Given the description of an element on the screen output the (x, y) to click on. 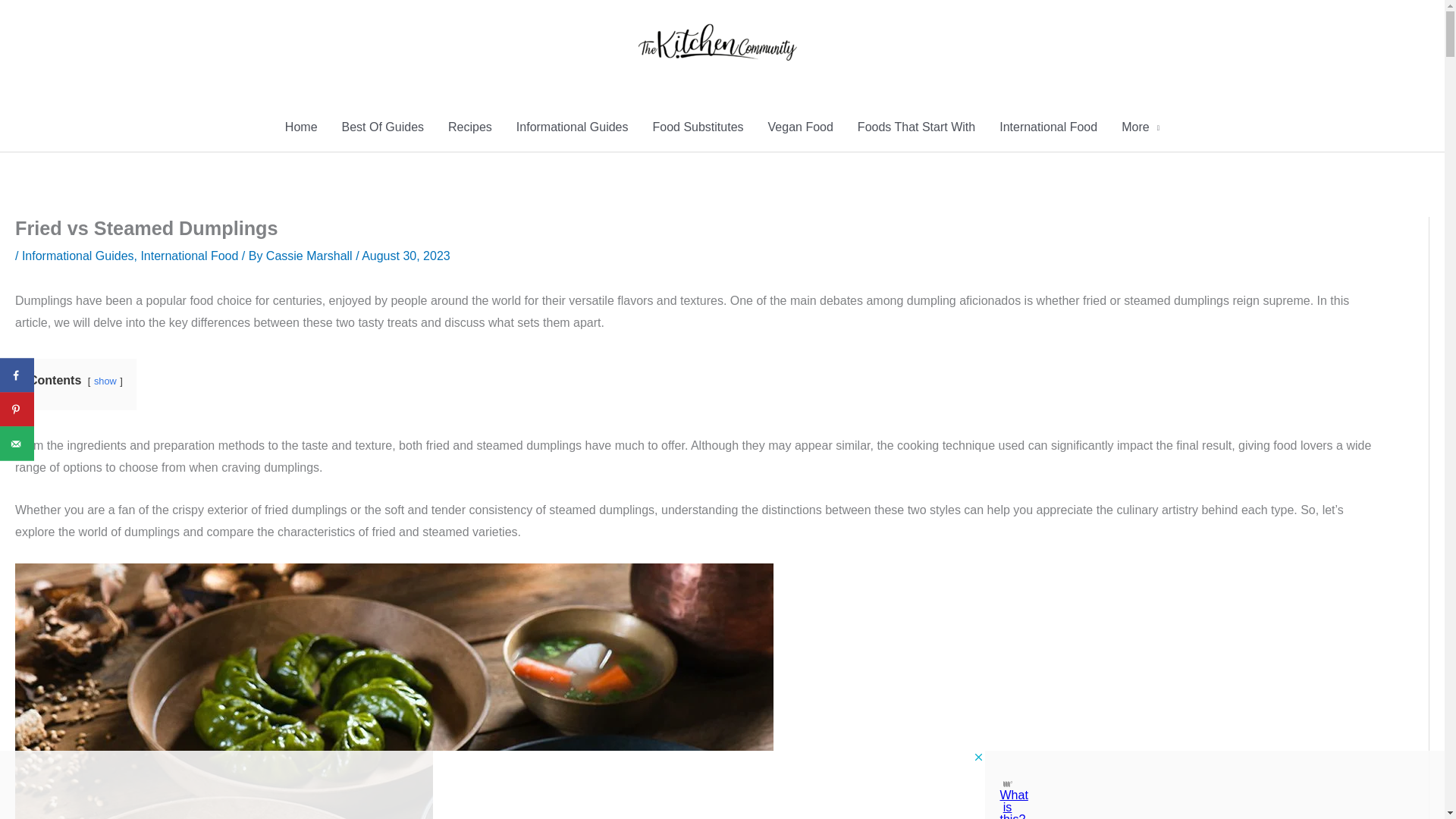
Vegan Food (800, 127)
show (105, 380)
Foods That Start With (916, 127)
Best Of Guides (383, 127)
View all posts by Cassie Marshall (310, 255)
International Food (1048, 127)
Home (301, 127)
Food Substitutes (697, 127)
Informational Guides (571, 127)
More (1140, 127)
Cassie Marshall (310, 255)
International Food (188, 255)
Recipes (469, 127)
Informational Guides (77, 255)
